Given the description of an element on the screen output the (x, y) to click on. 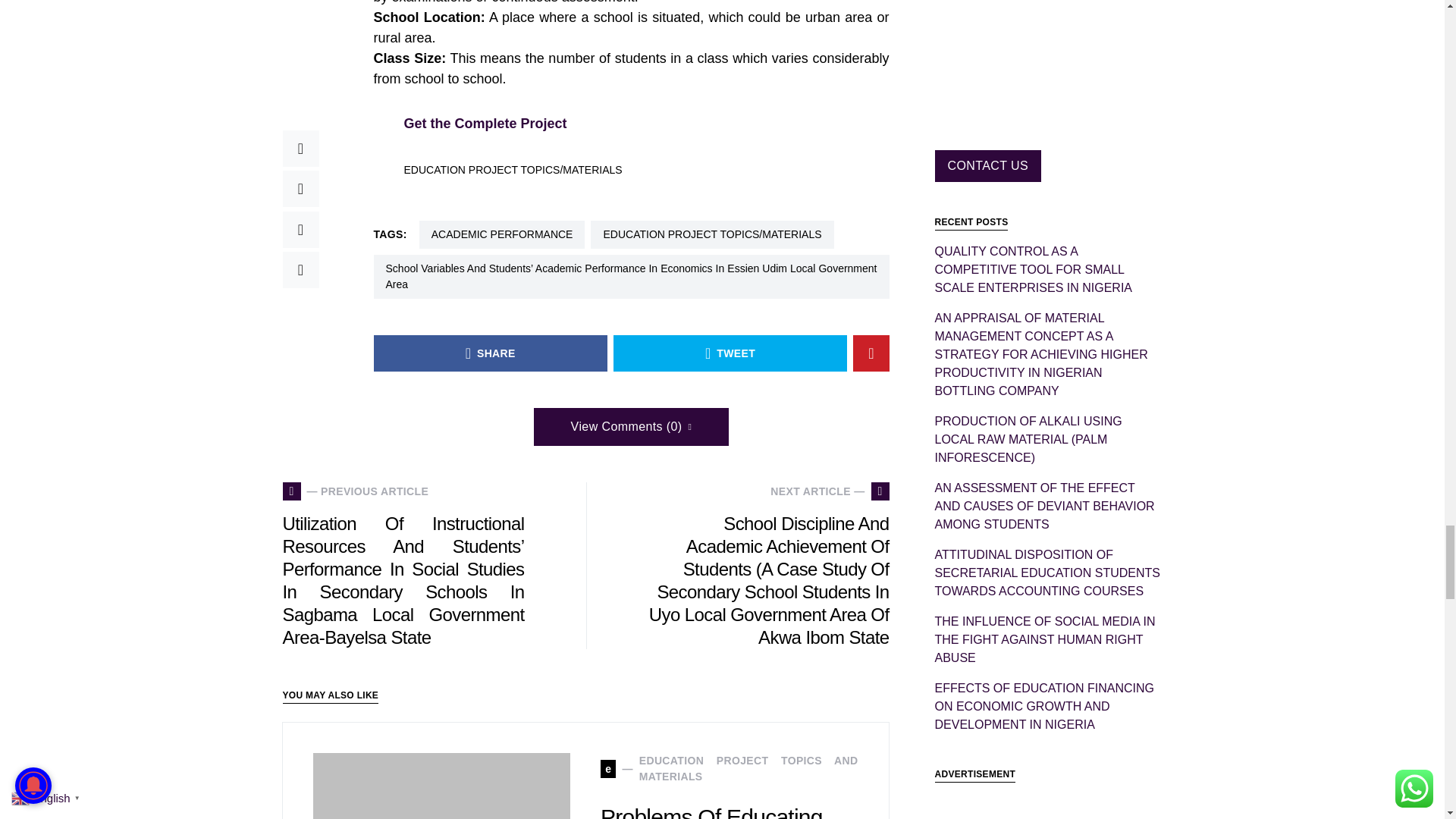
SHARE (489, 352)
TWEET (729, 352)
Get the Complete Project (484, 123)
ACADEMIC PERFORMANCE (502, 234)
